Given the description of an element on the screen output the (x, y) to click on. 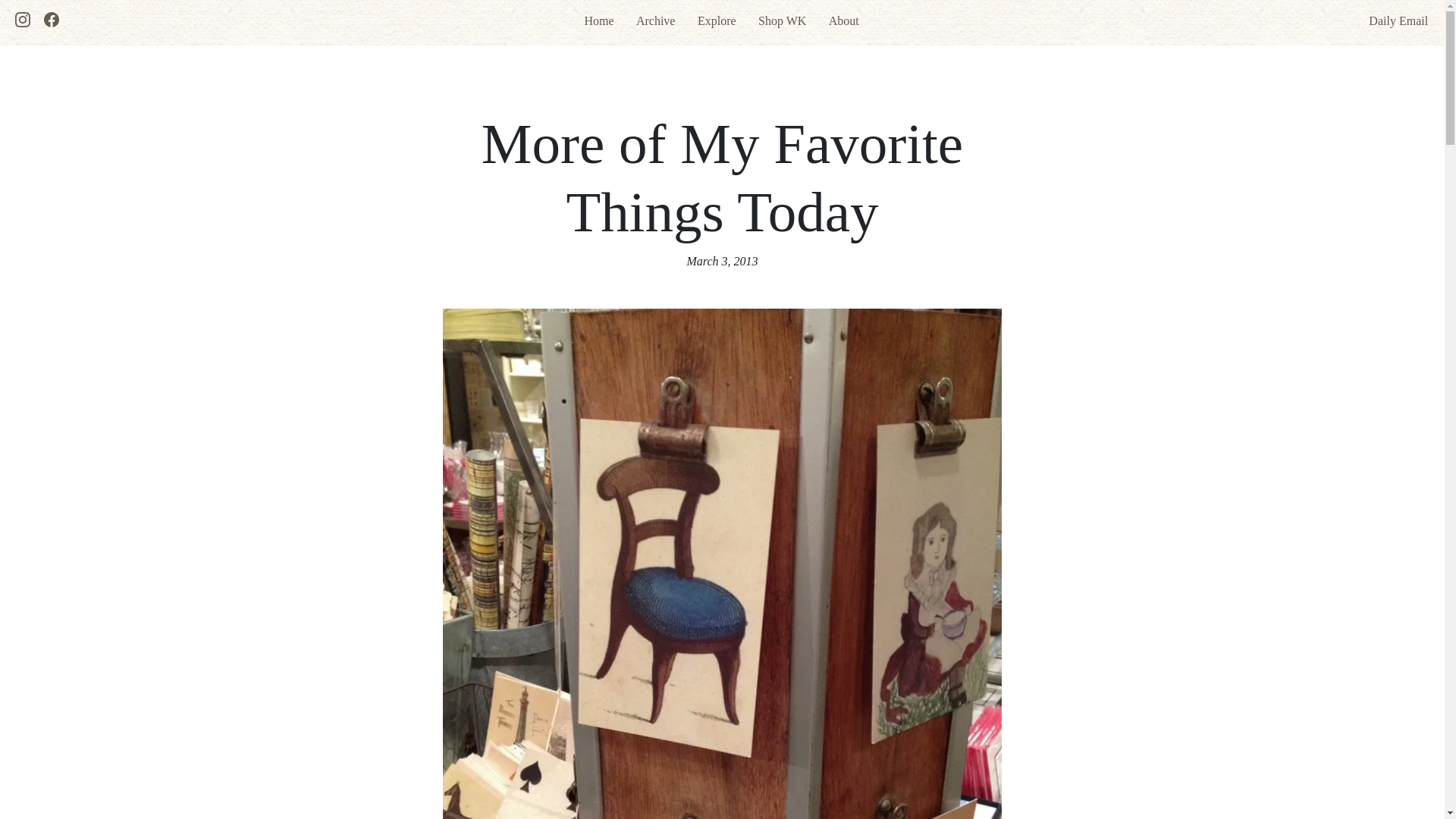
Daily Email (1390, 19)
Shop WK (782, 20)
Explore (716, 20)
Archive (655, 20)
About (843, 20)
Home (597, 20)
